Given the description of an element on the screen output the (x, y) to click on. 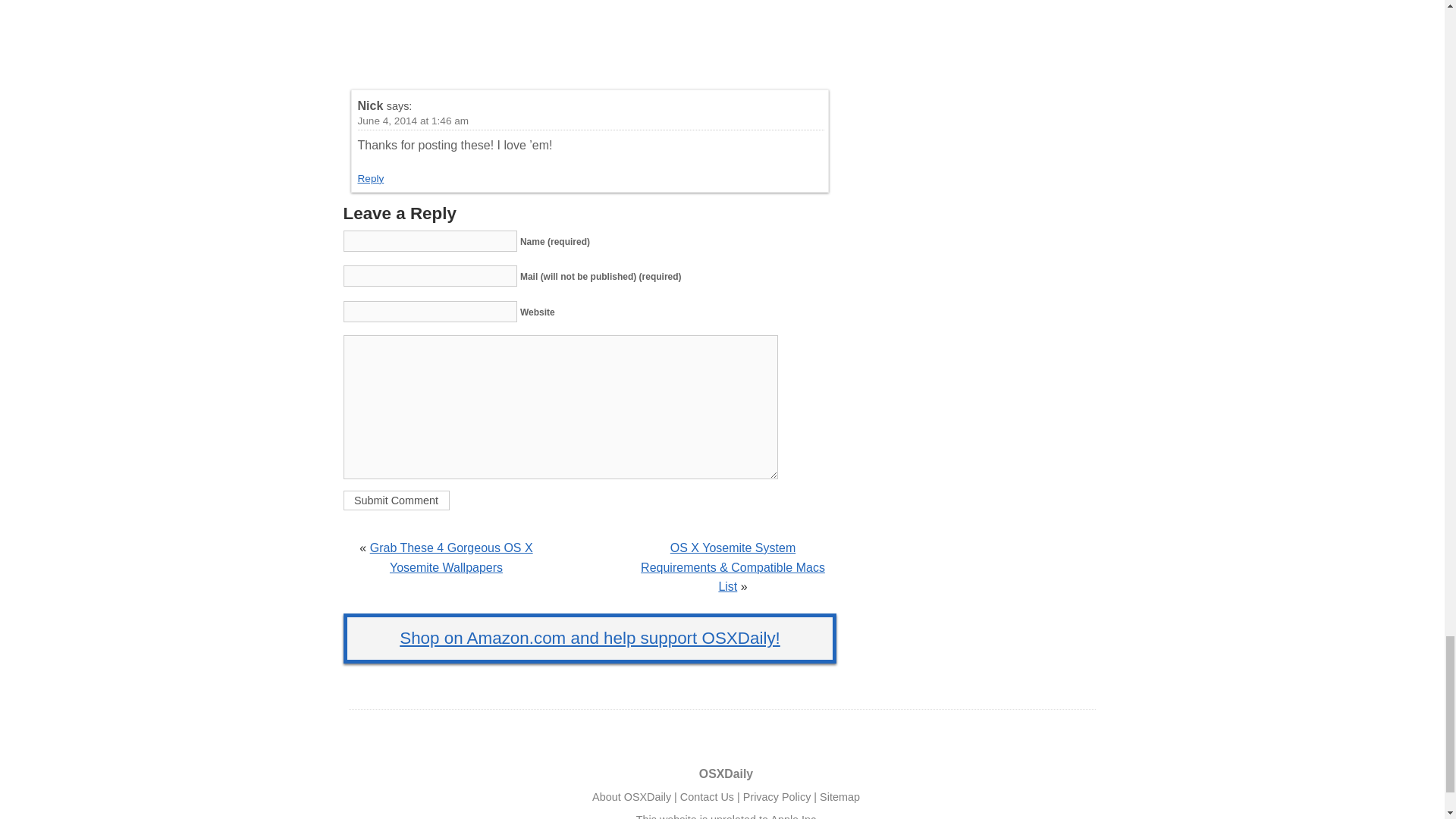
Submit Comment (395, 500)
